Given the description of an element on the screen output the (x, y) to click on. 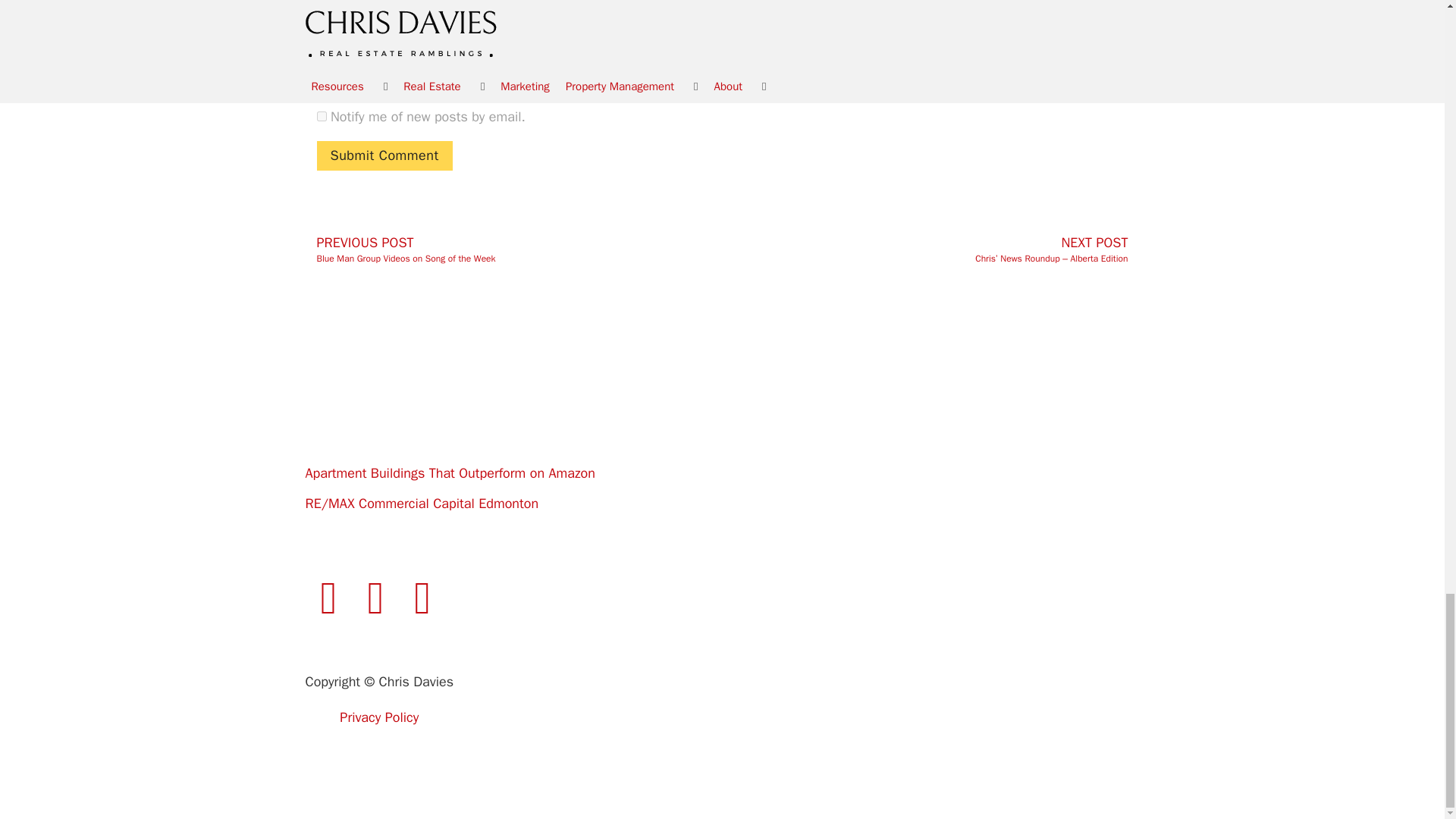
subscribe (321, 116)
subscribe (321, 81)
Submit Comment (384, 155)
